Given the description of an element on the screen output the (x, y) to click on. 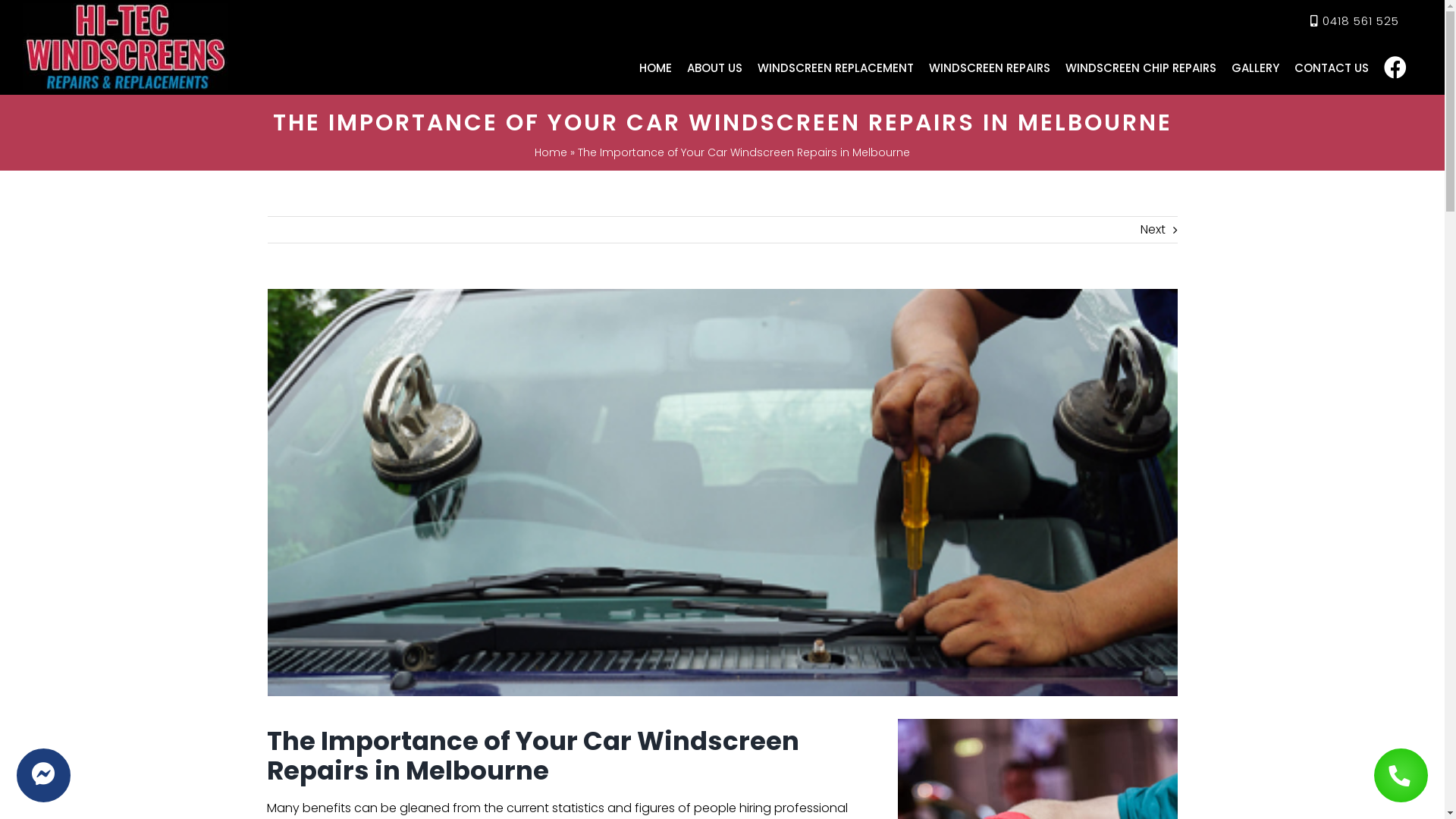
WINDSCREEN CHIP REPAIRS Element type: text (1140, 67)
0418 561 525 Element type: text (1360, 20)
GALLERY Element type: text (1255, 67)
WINDSCREEN REPAIRS Element type: text (989, 67)
Next Element type: text (1152, 229)
HOME Element type: text (655, 67)
ABOUT US Element type: text (714, 67)
Home Element type: text (550, 152)
WINDSCREEN REPLACEMENT Element type: text (835, 67)
View Larger Image Element type: text (721, 492)
CONTACT US Element type: text (1331, 67)
